Given the description of an element on the screen output the (x, y) to click on. 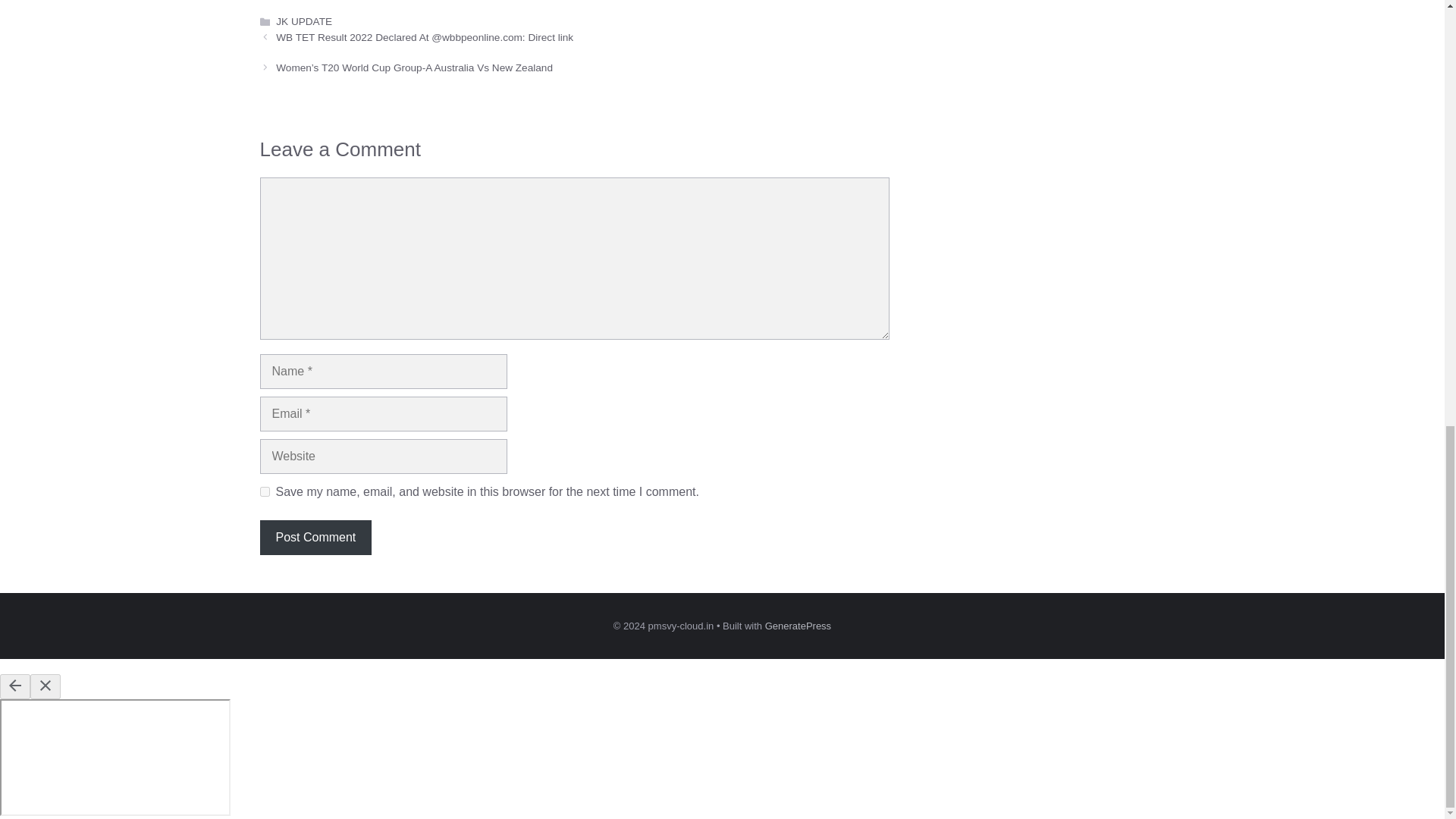
Scroll back to top (1406, 648)
yes (264, 491)
Post Comment (315, 537)
Post Comment (315, 537)
JK UPDATE (303, 21)
GeneratePress (798, 625)
